Given the description of an element on the screen output the (x, y) to click on. 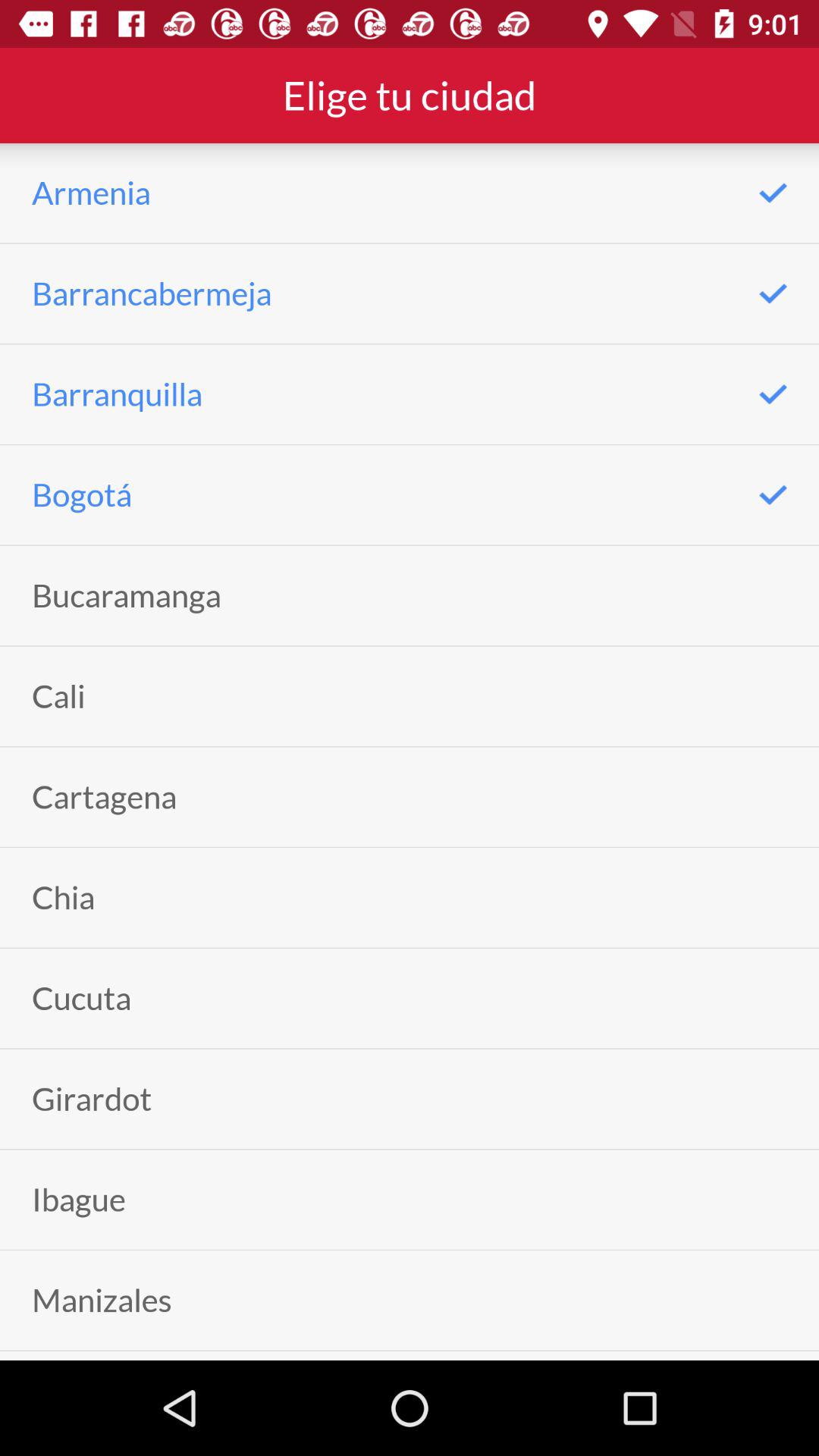
tap cucuta icon (81, 998)
